Given the description of an element on the screen output the (x, y) to click on. 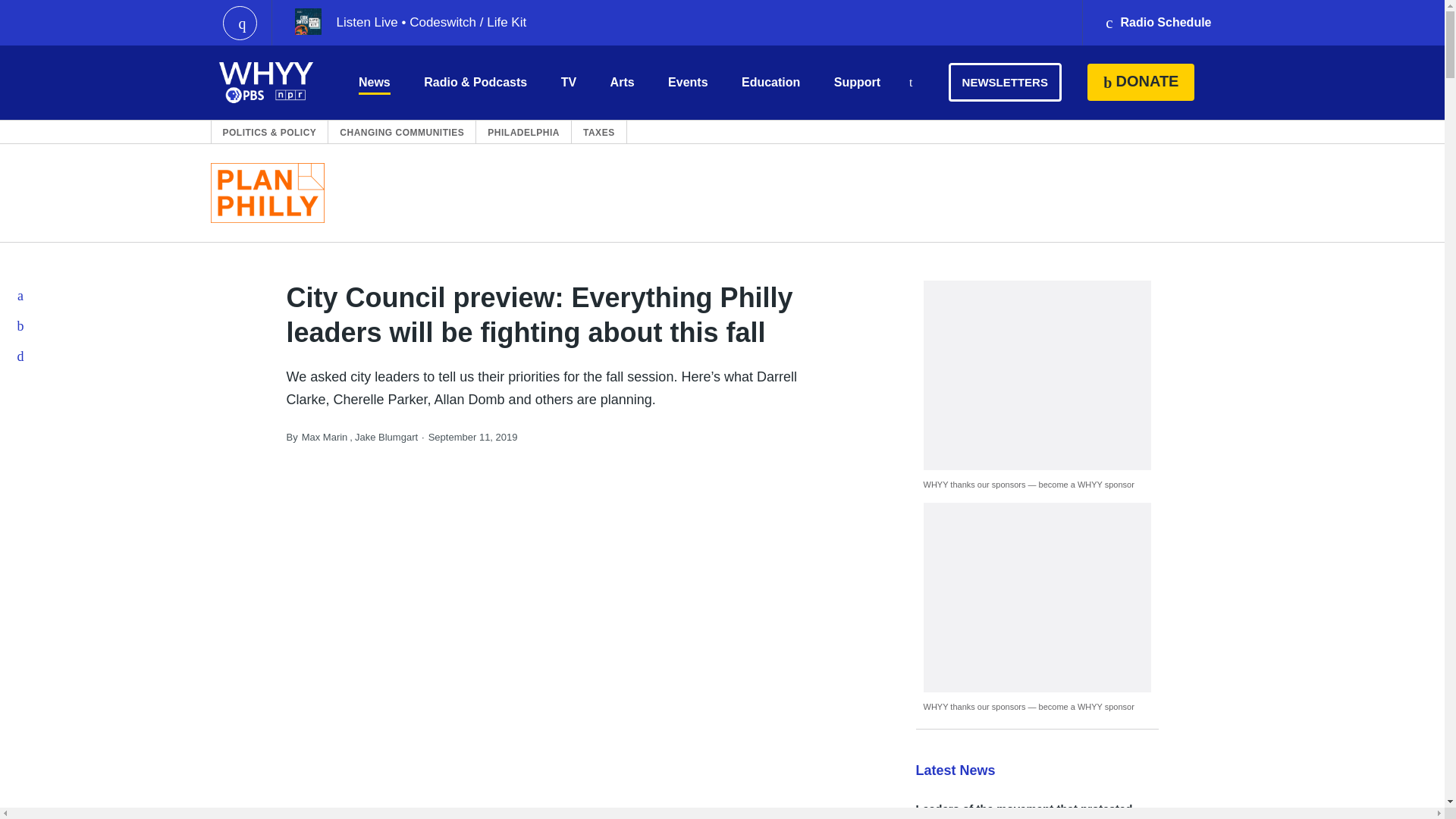
Facebook (21, 295)
Twitter (21, 326)
Email (21, 356)
Radio Schedule (1157, 22)
Search (910, 83)
PHILADELPHIA (523, 132)
WHYY (266, 82)
CHANGING COMMUNITIES (401, 132)
plan-philly-masthead-sm (267, 192)
